Given the description of an element on the screen output the (x, y) to click on. 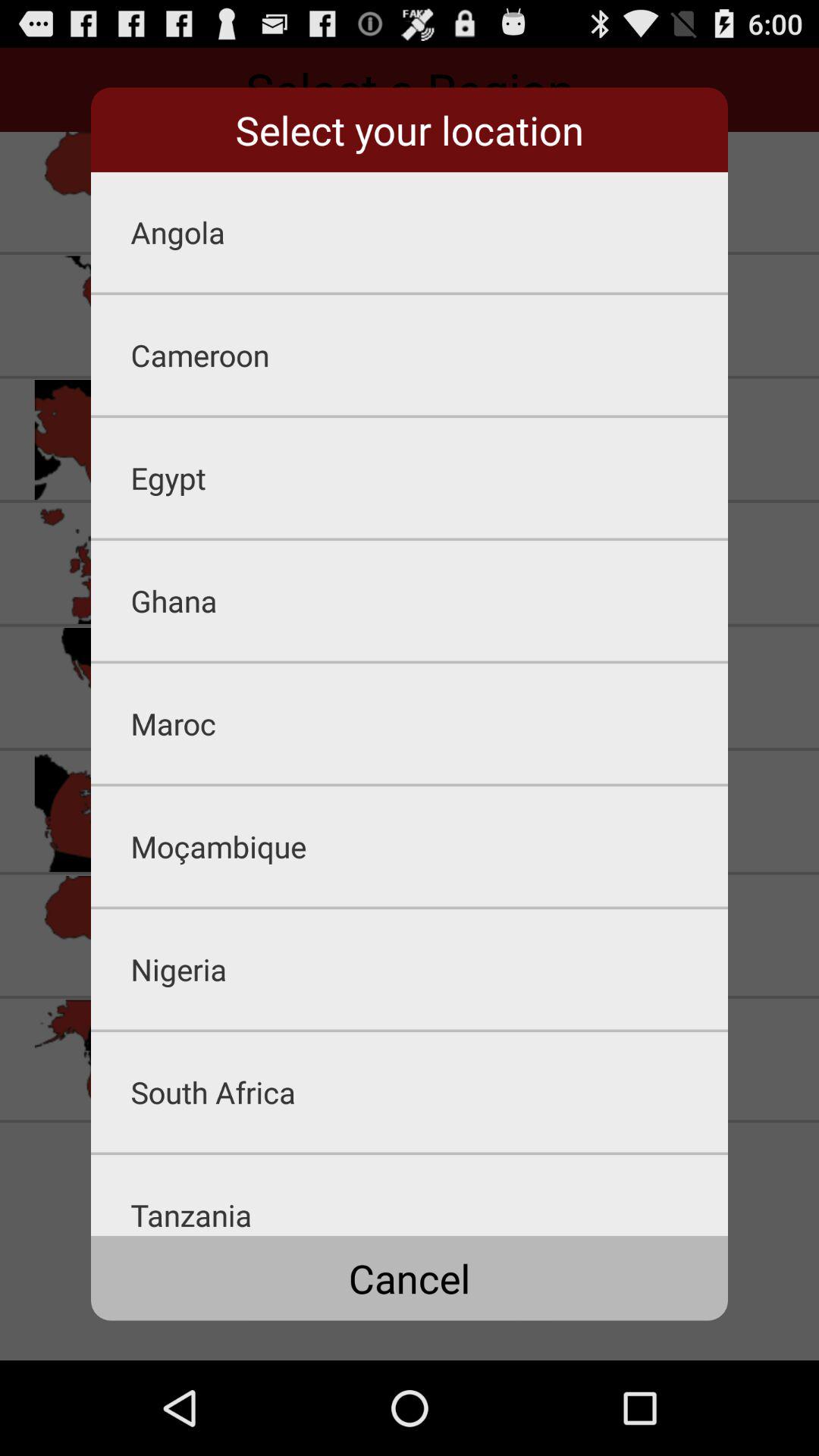
click icon below the select your location app (429, 232)
